Given the description of an element on the screen output the (x, y) to click on. 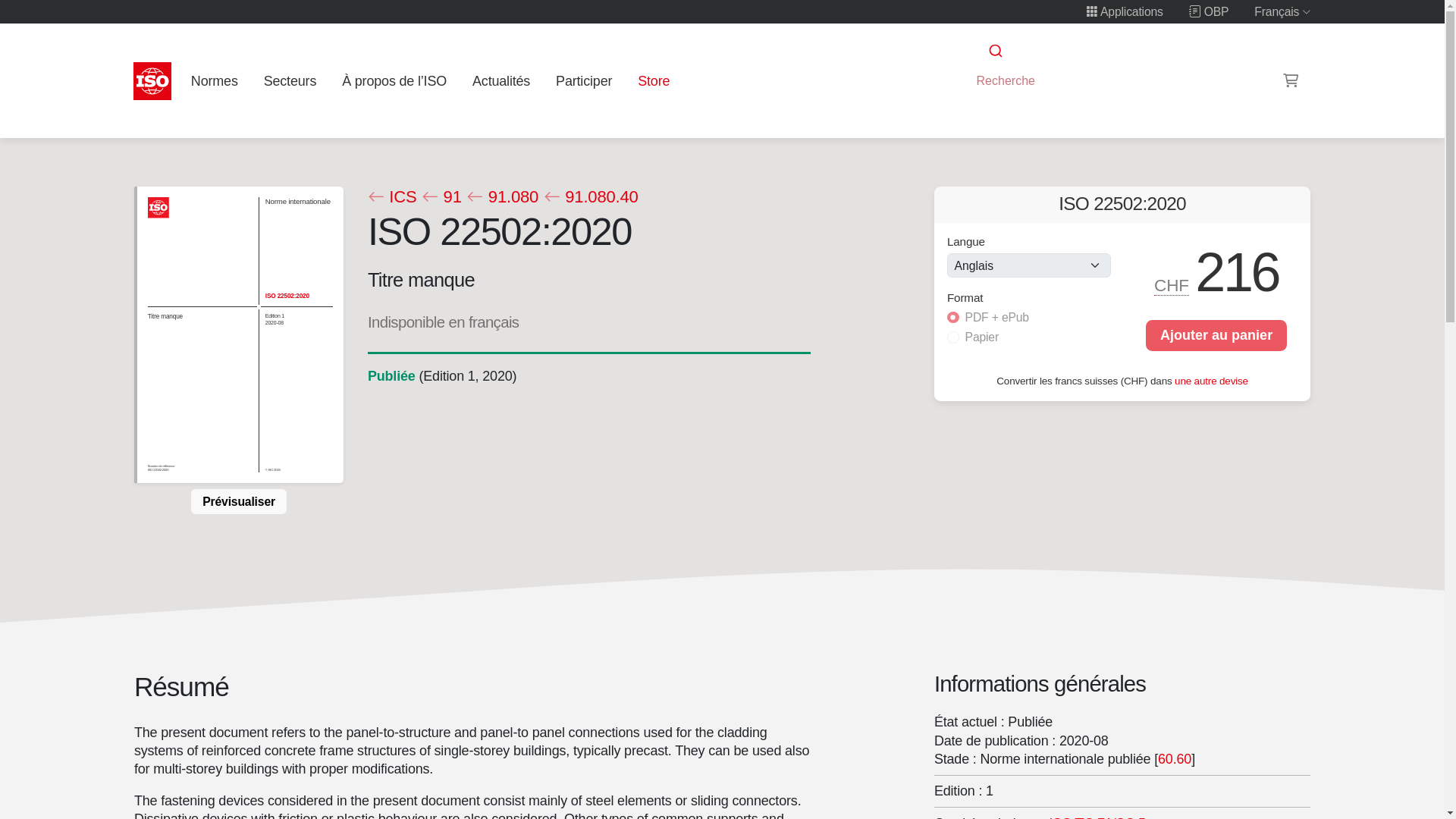
Ajouter au panier (1217, 335)
Secteurs (290, 80)
Plateforme de consultation en ligne (1208, 11)
Submit (993, 51)
 Applications (1124, 11)
Organisation internationale de normalisation (152, 80)
91.080 (501, 197)
Portail des applications de l'ISO (1124, 11)
Participer (584, 80)
 OBP (1208, 11)
